Given the description of an element on the screen output the (x, y) to click on. 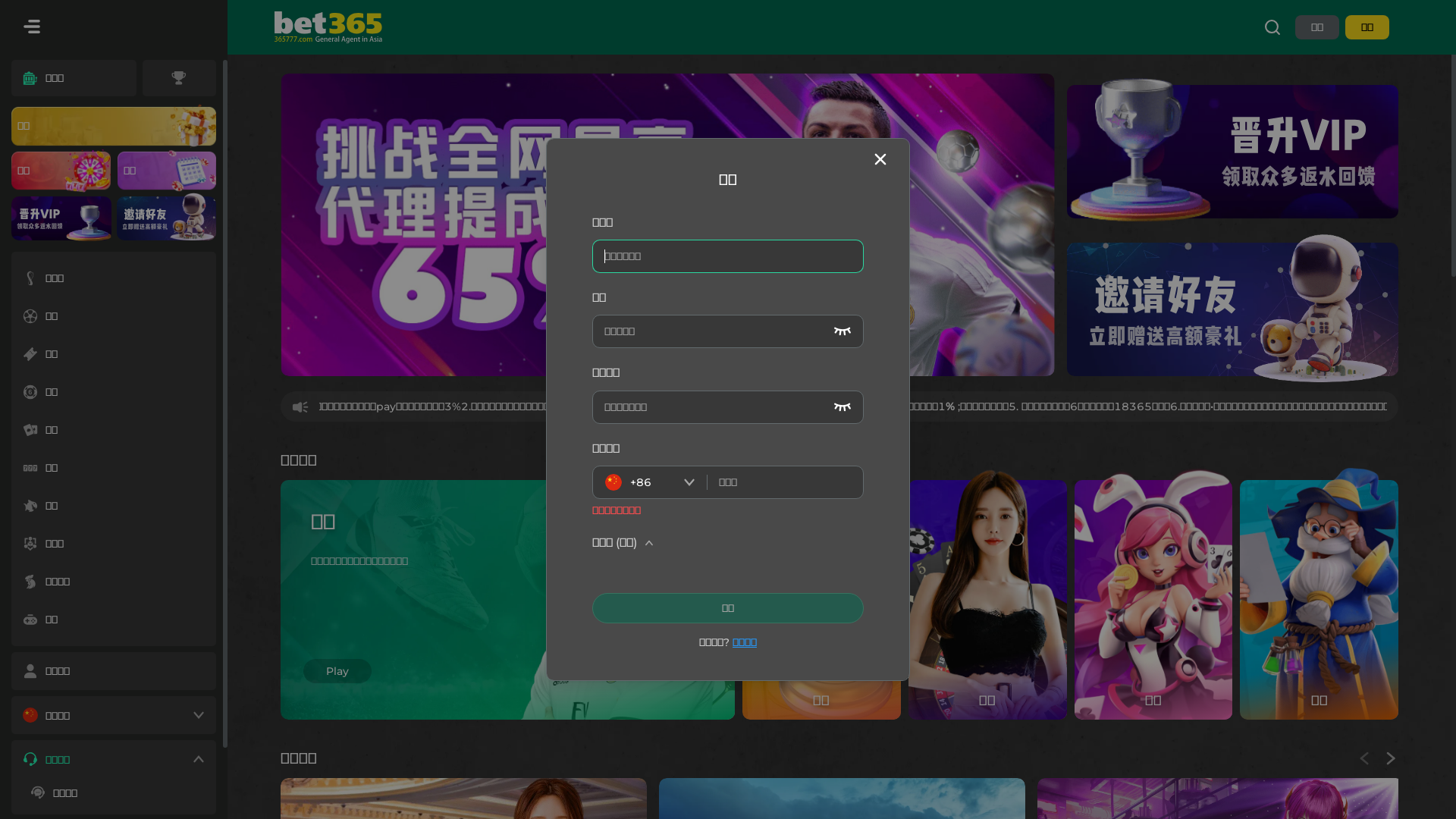
Play Element type: text (337, 670)
